Given the description of an element on the screen output the (x, y) to click on. 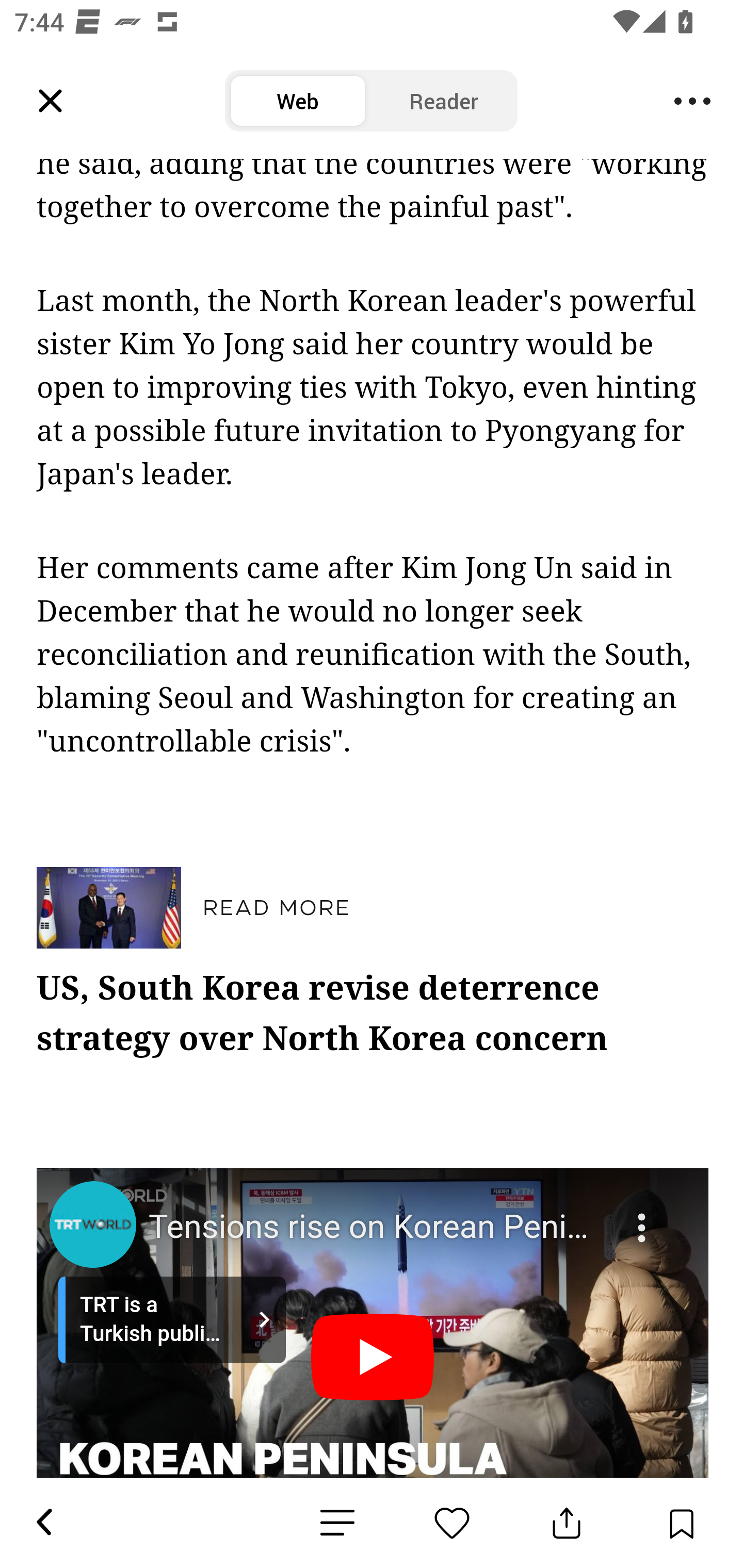
Leading Icon (50, 101)
Reader (443, 101)
Menu (692, 101)
More (644, 1215)
Photo image of TRT World (92, 1225)
Tensions rise on Korean Peninsula (374, 1227)
TRT is a Turkish public broadcast service. (171, 1320)
Play (373, 1358)
Back Button (43, 1523)
News Detail Emotion (451, 1523)
Share Button (566, 1523)
Save Button (680, 1523)
News Detail Emotion (337, 1523)
